Given the description of an element on the screen output the (x, y) to click on. 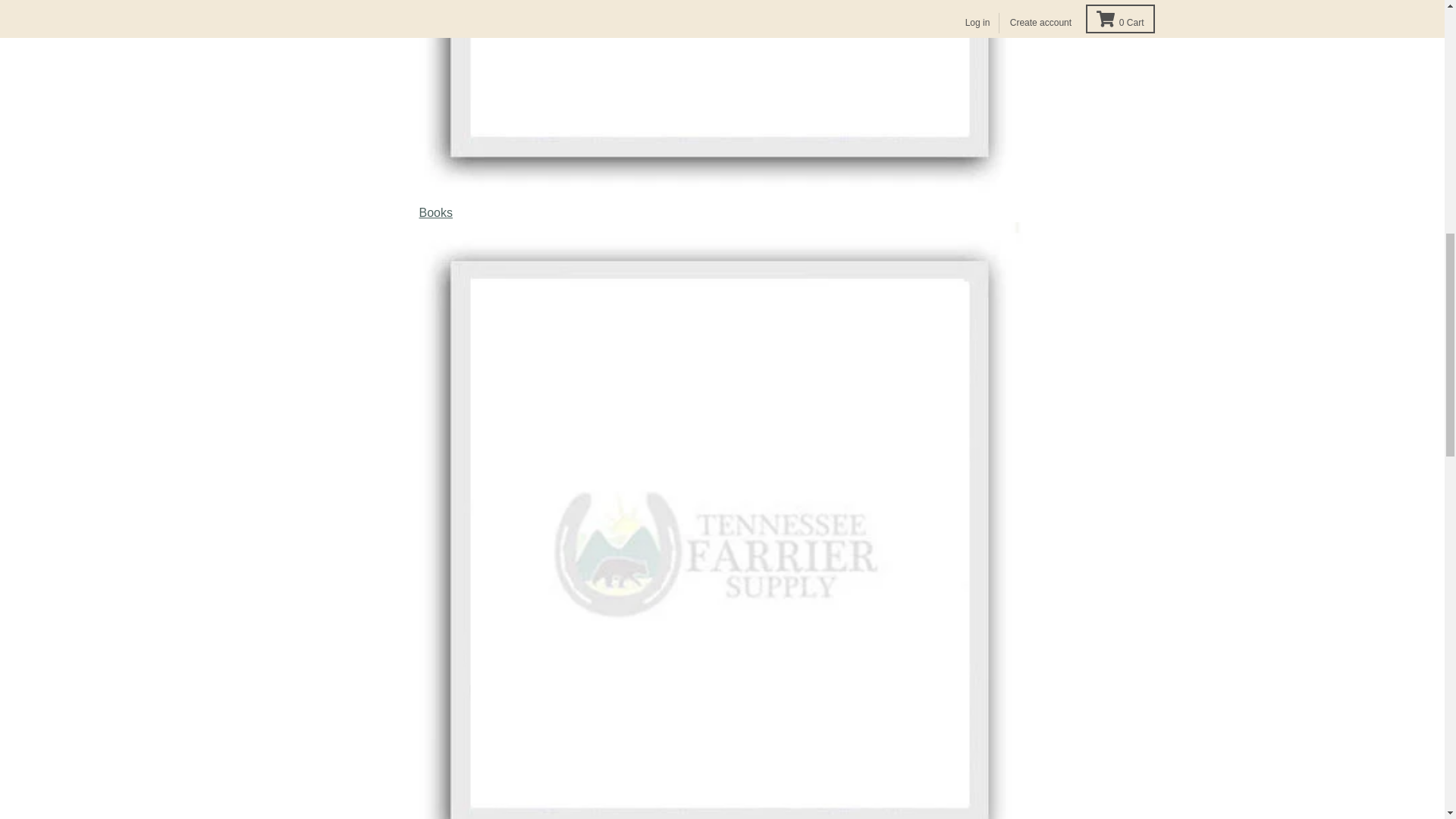
Books (722, 98)
